Given the description of an element on the screen output the (x, y) to click on. 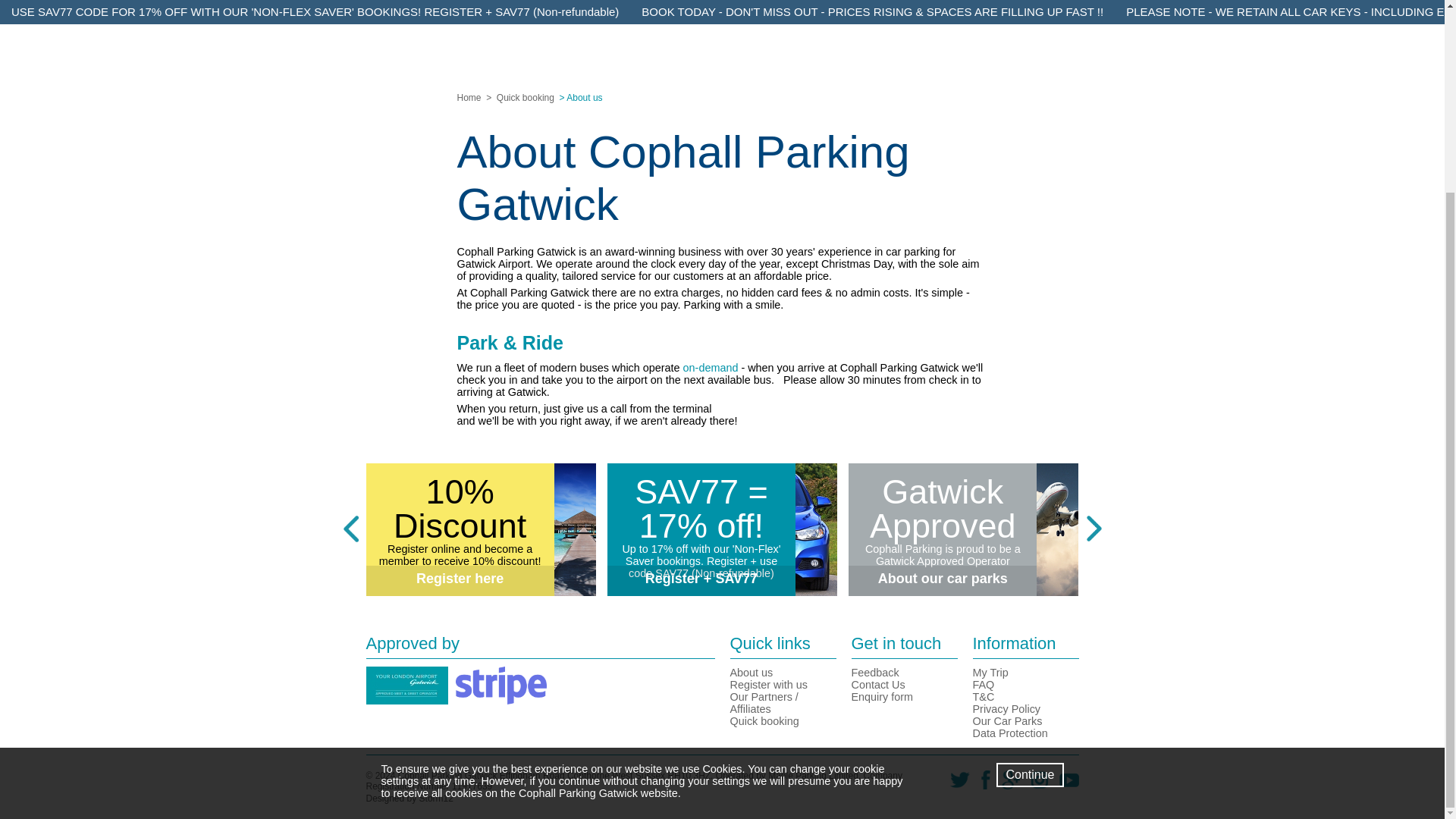
Our YouTube channel (1063, 786)
Cophall Parking on Instagram (1034, 786)
Quote me (722, 72)
Visit our Facebook page (980, 786)
Gatwick car parking - Park and Ride (710, 367)
Cophall Parking on Twitter (954, 786)
